Given the description of an element on the screen output the (x, y) to click on. 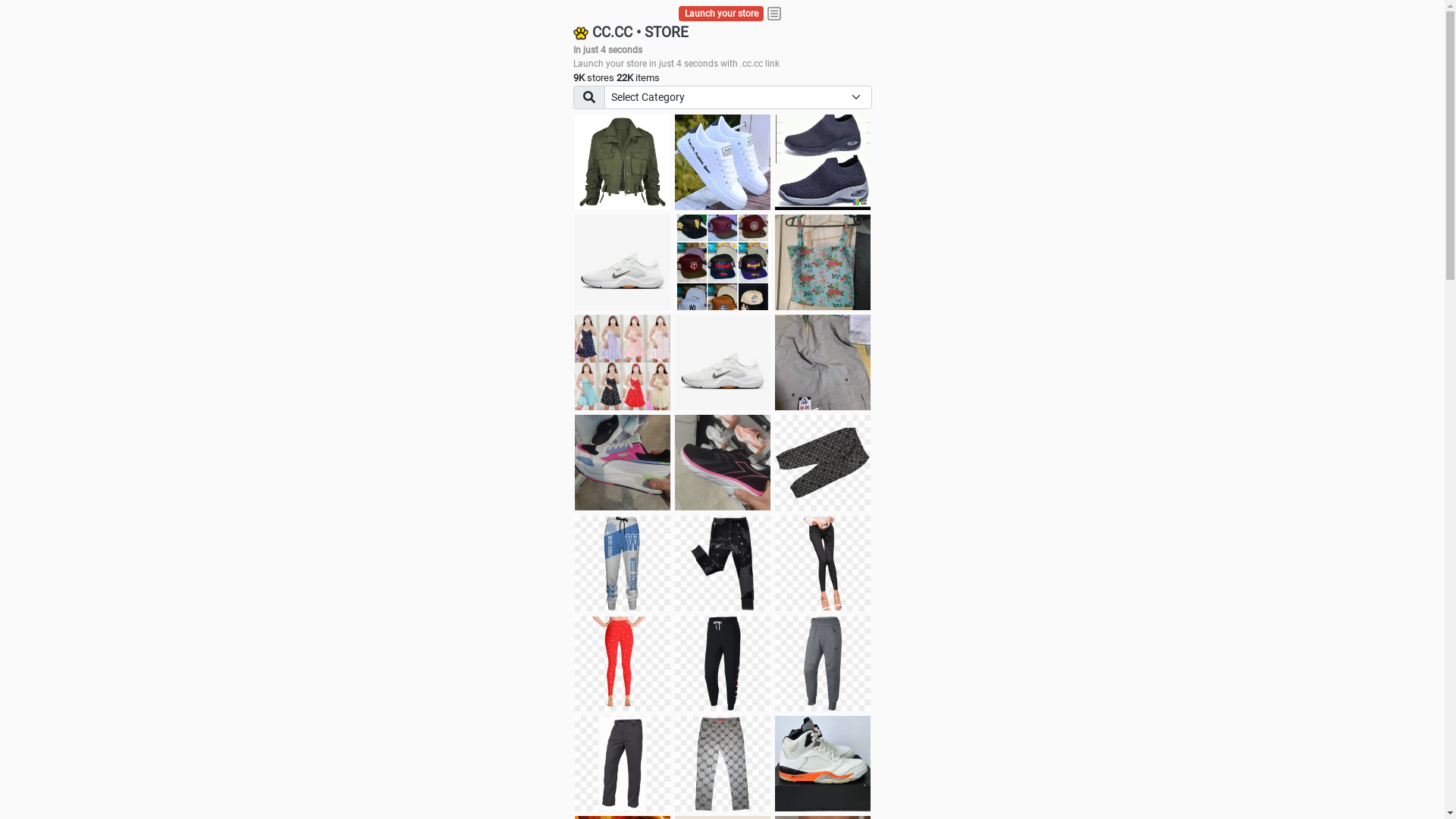
Ukay cloth Element type: hover (822, 262)
Zapatillas pumas Element type: hover (622, 462)
Short pant Element type: hover (822, 462)
Pant Element type: hover (622, 763)
Pant Element type: hover (622, 663)
Shoes Element type: hover (722, 362)
jacket Element type: hover (622, 162)
Pant Element type: hover (722, 563)
Pant Element type: hover (722, 663)
white shoes Element type: hover (722, 162)
Launch your store Element type: text (721, 13)
Shoe Element type: hover (822, 763)
Pant Element type: hover (822, 663)
shoes for boys Element type: hover (822, 162)
Zapatillas Element type: hover (722, 462)
Dress/square nect top Element type: hover (622, 362)
Shoes for boys Element type: hover (622, 262)
Things we need Element type: hover (722, 262)
Pant Element type: hover (822, 563)
Pant Element type: hover (622, 563)
Pant Element type: hover (722, 763)
